Given the description of an element on the screen output the (x, y) to click on. 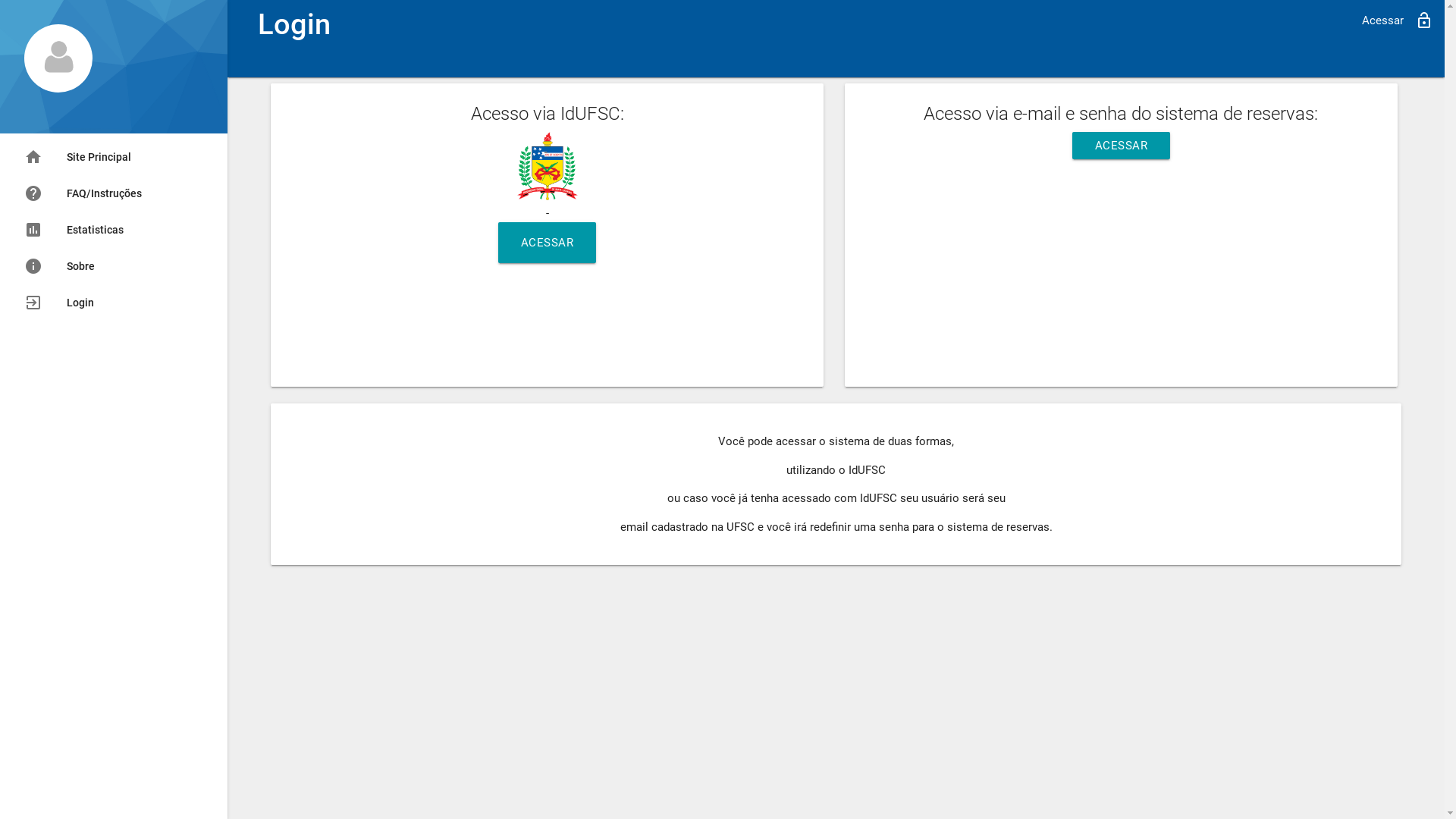
lock_open
Acessar Element type: text (1397, 20)
ACESSAR Element type: text (1121, 145)
Login
exit_to_app Element type: text (113, 302)
ACESSAR Element type: text (547, 242)
Sobre
info Element type: text (113, 265)
Site Principal
home Element type: text (113, 156)
Estatisticas
assessment Element type: text (113, 229)
